Given the description of an element on the screen output the (x, y) to click on. 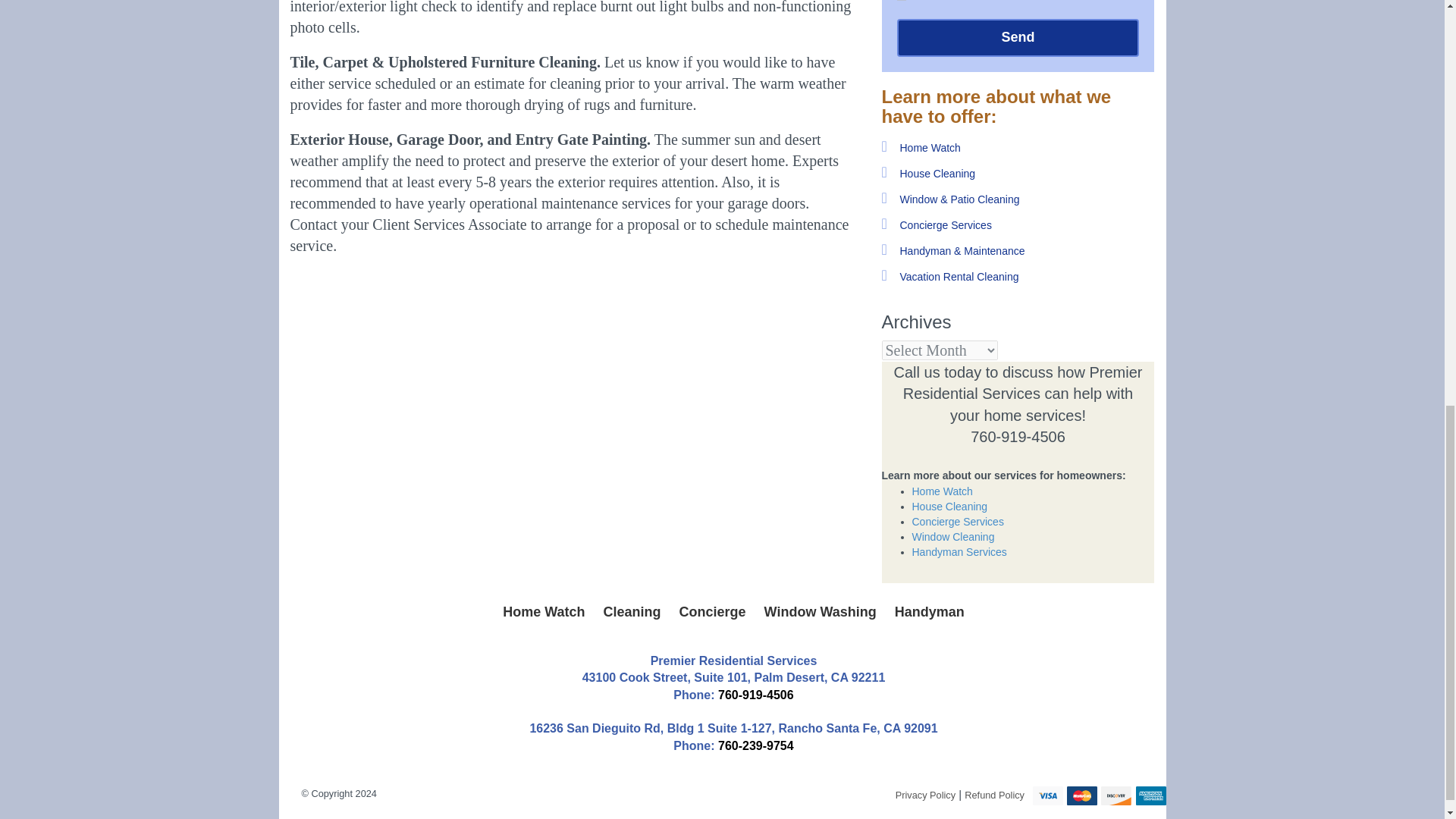
Concierge Services (945, 224)
Send (1017, 37)
Home Watch (543, 612)
House Cleaning (937, 173)
Send (1017, 37)
Cleaning (631, 612)
Home Watch (929, 147)
Vacation Rental Cleaning (958, 276)
